Given the description of an element on the screen output the (x, y) to click on. 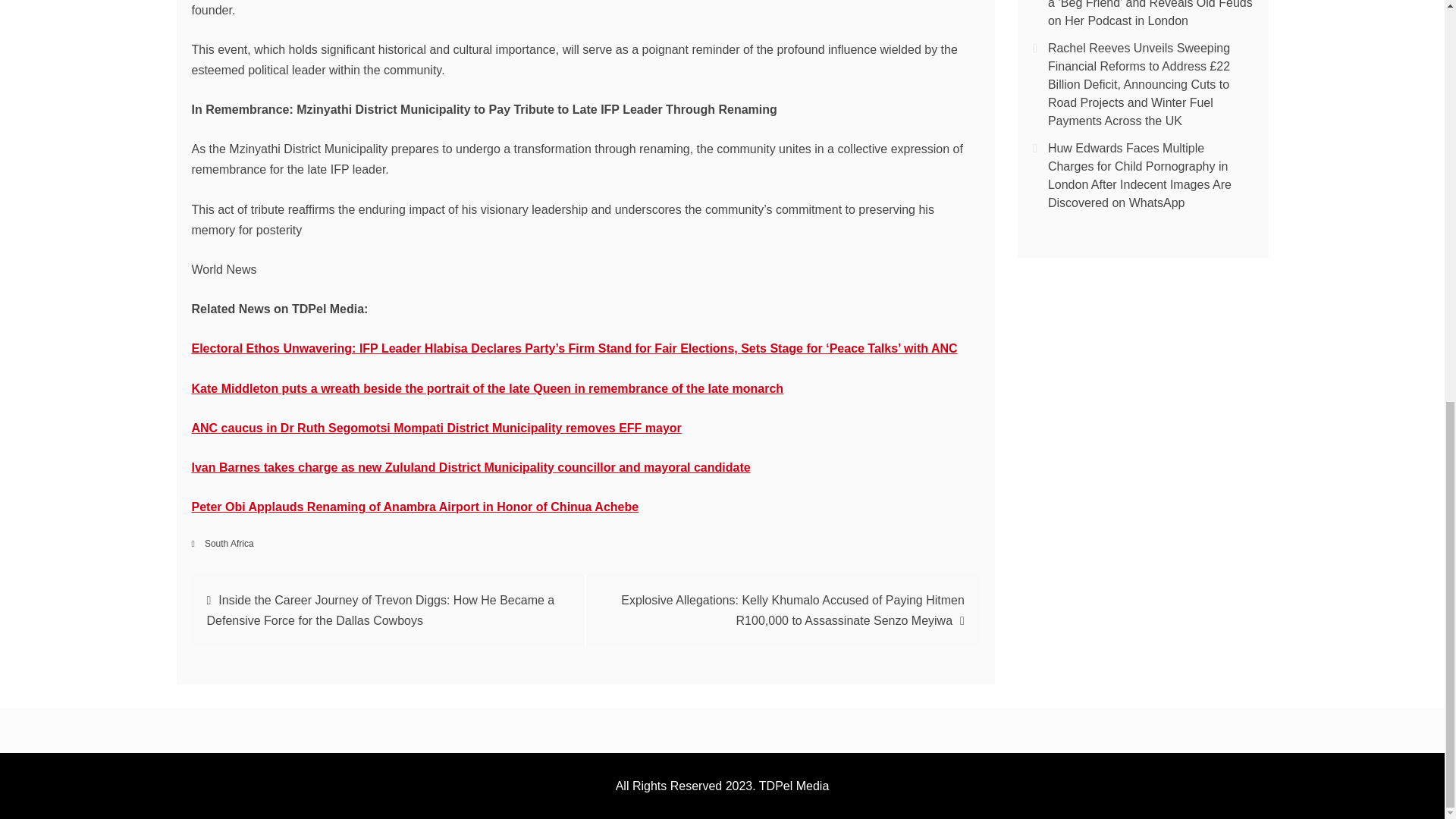
South Africa (229, 543)
